Given the description of an element on the screen output the (x, y) to click on. 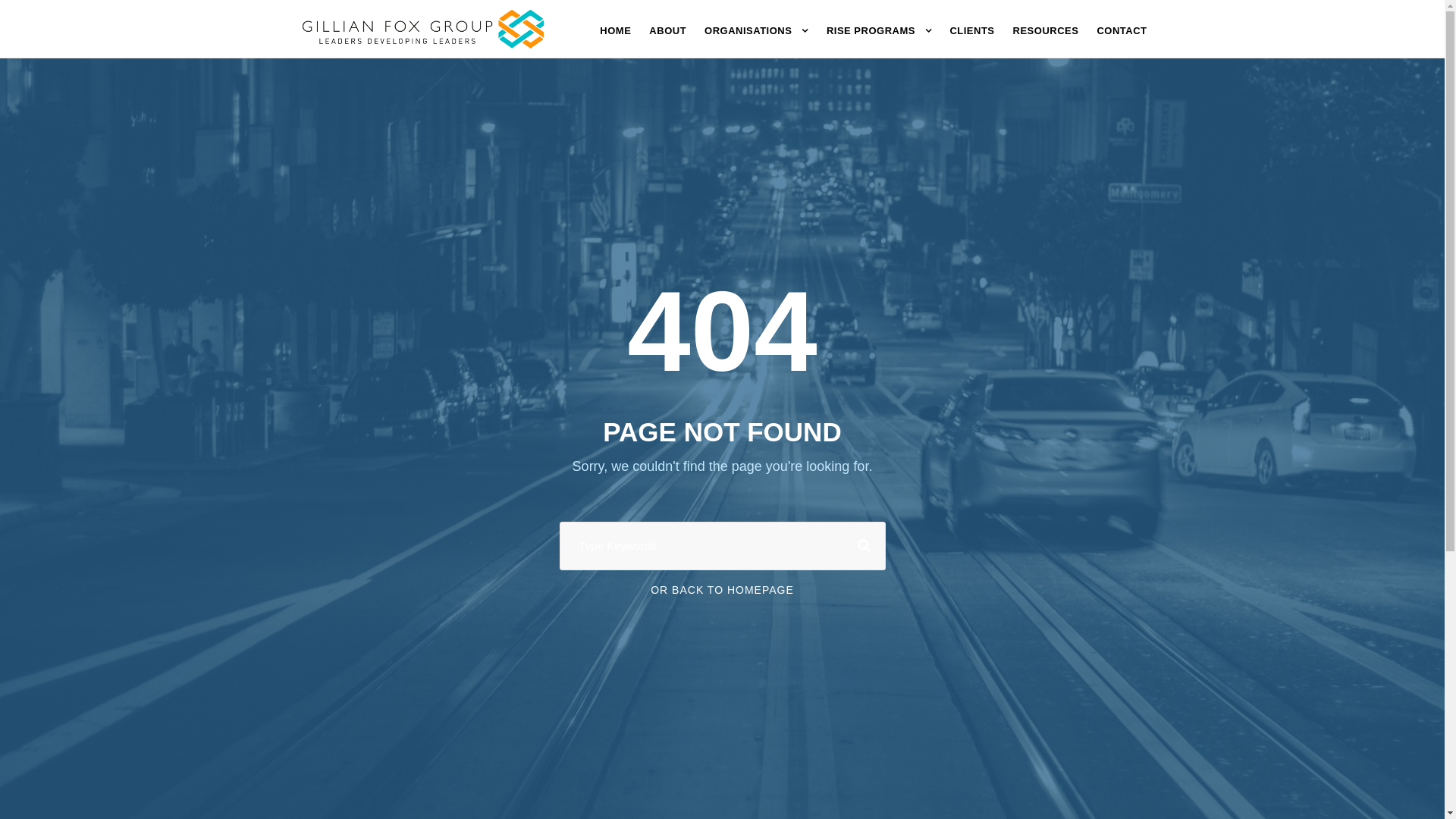
CONTACT Element type: text (1121, 36)
Gillian Fox 2021_Colour_H Element type: hover (422, 28)
RISE PROGRAMS Element type: text (878, 36)
OR BACK TO HOMEPAGE Element type: text (721, 589)
RESOURCES Element type: text (1046, 36)
HOME Element type: text (614, 36)
ORGANISATIONS Element type: text (756, 36)
ABOUT Element type: text (667, 36)
Search Element type: text (860, 545)
CLIENTS Element type: text (971, 36)
